Given the description of an element on the screen output the (x, y) to click on. 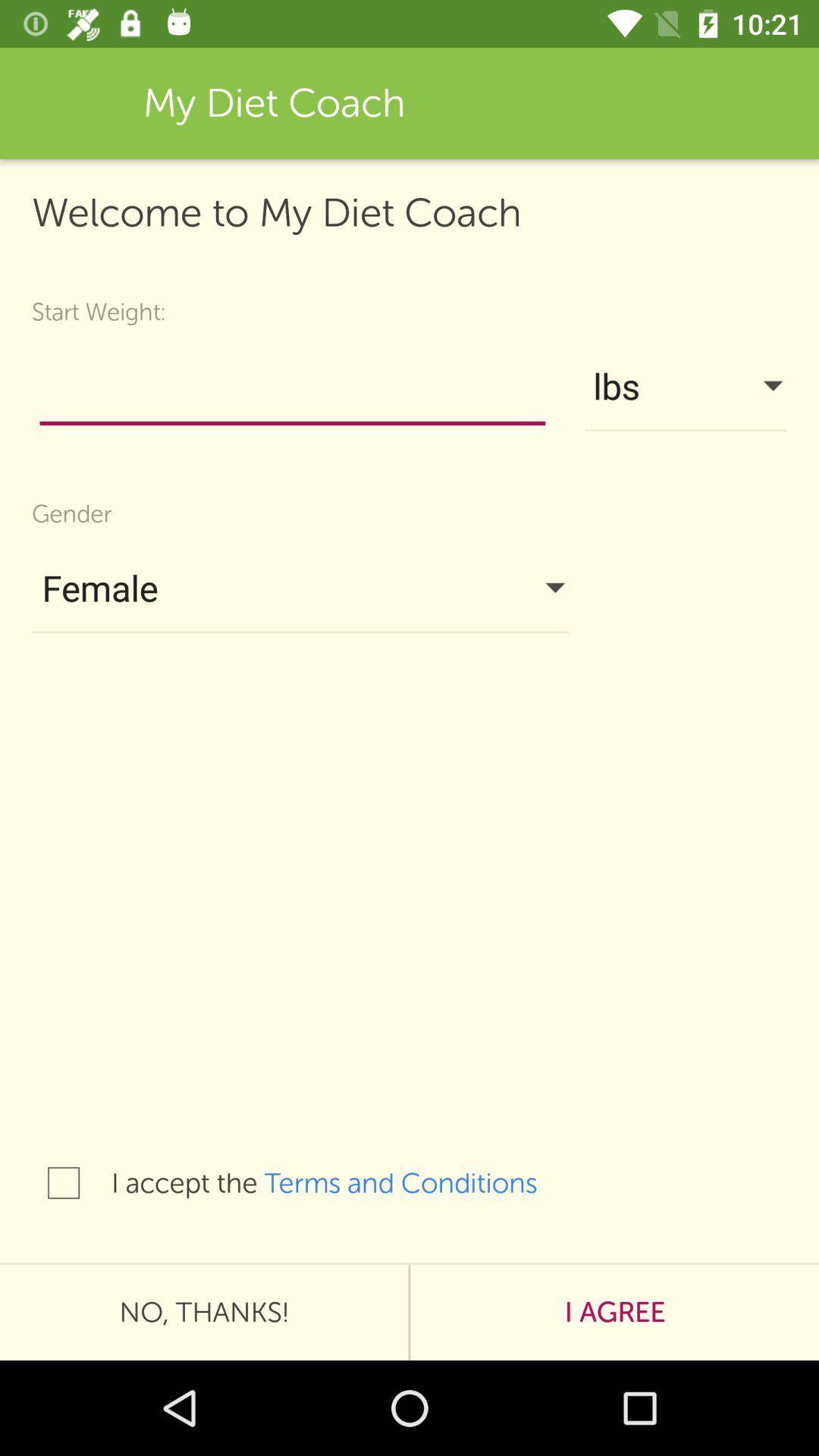
turn on icon to the right of i accept the  item (416, 1182)
